Given the description of an element on the screen output the (x, y) to click on. 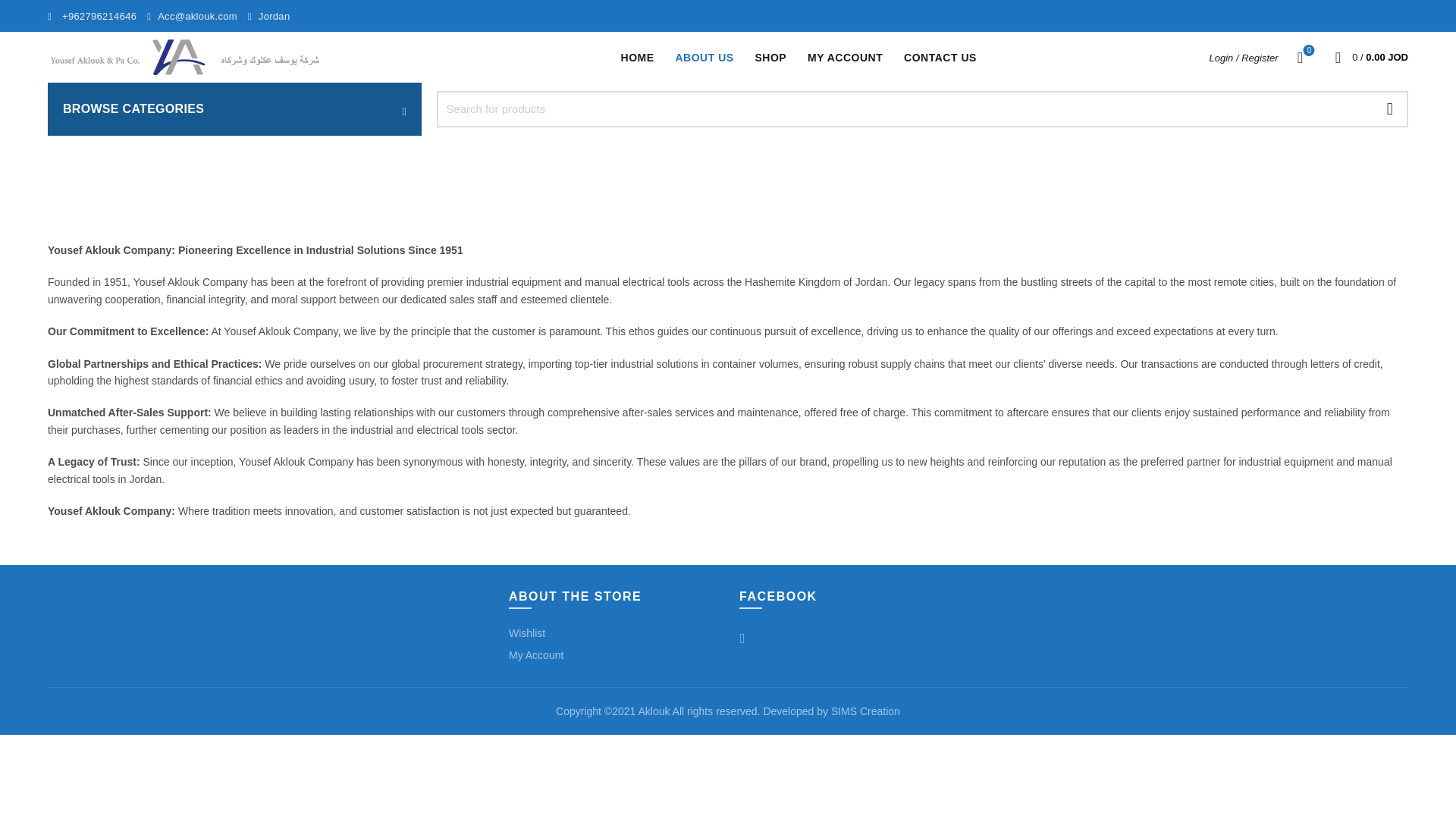
SHOP (770, 57)
HOME (637, 57)
ABOUT US (703, 57)
MY ACCOUNT (844, 57)
CONTACT US (1299, 56)
